Given the description of an element on the screen output the (x, y) to click on. 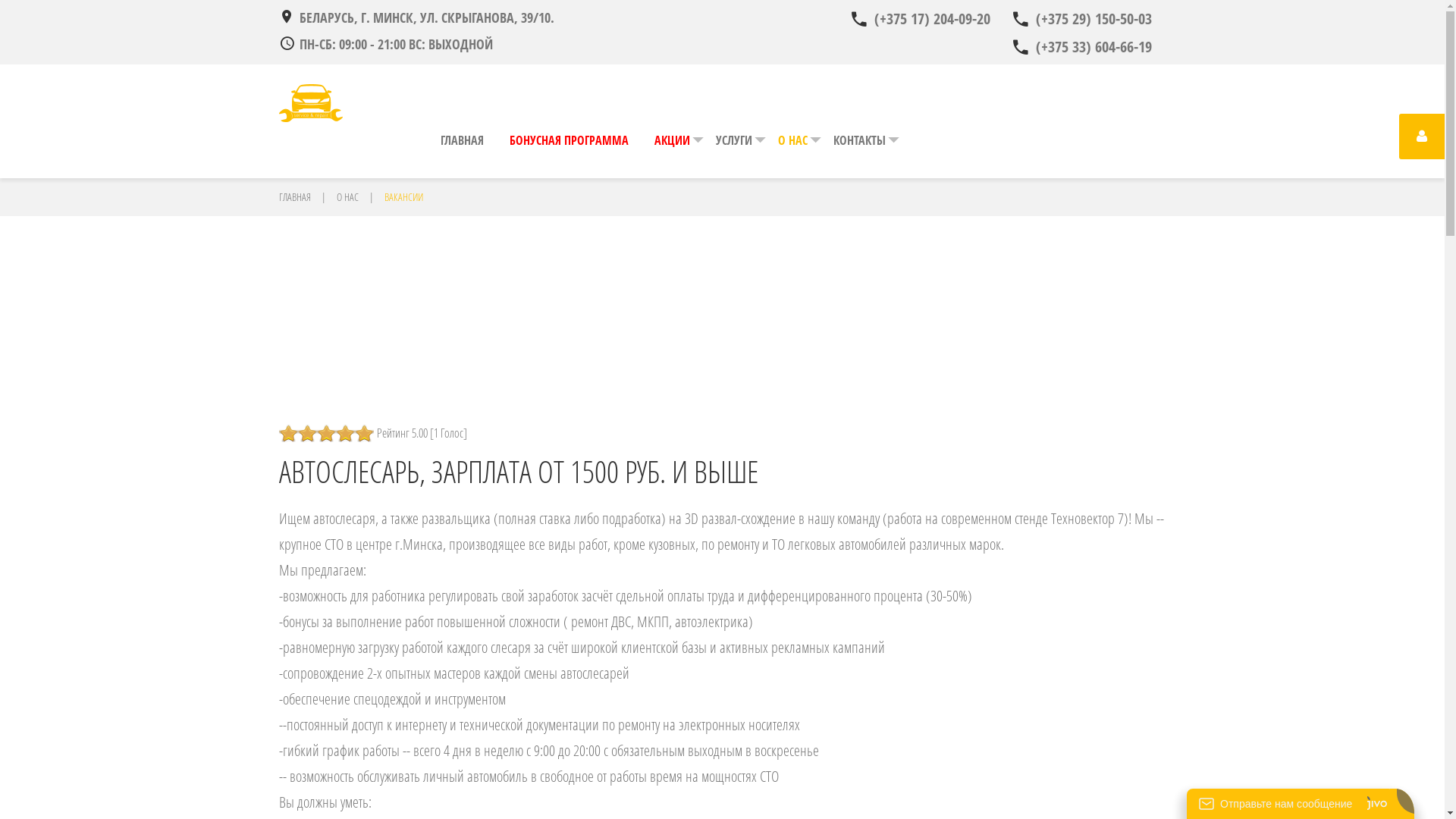
1 Element type: text (307, 432)
1 Element type: text (302, 432)
1 Element type: text (293, 432)
(+375 33) 604-66-19 Element type: text (1080, 46)
1 Element type: text (283, 432)
1 Element type: text (312, 432)
1 Element type: text (321, 432)
1 Element type: text (288, 432)
(+375 29) 150-50-03 Element type: text (1080, 18)
1 Element type: text (297, 432)
1 Element type: text (316, 432)
1 Element type: text (326, 432)
(+375 17) 204-09-20 Element type: text (919, 18)
